Given the description of an element on the screen output the (x, y) to click on. 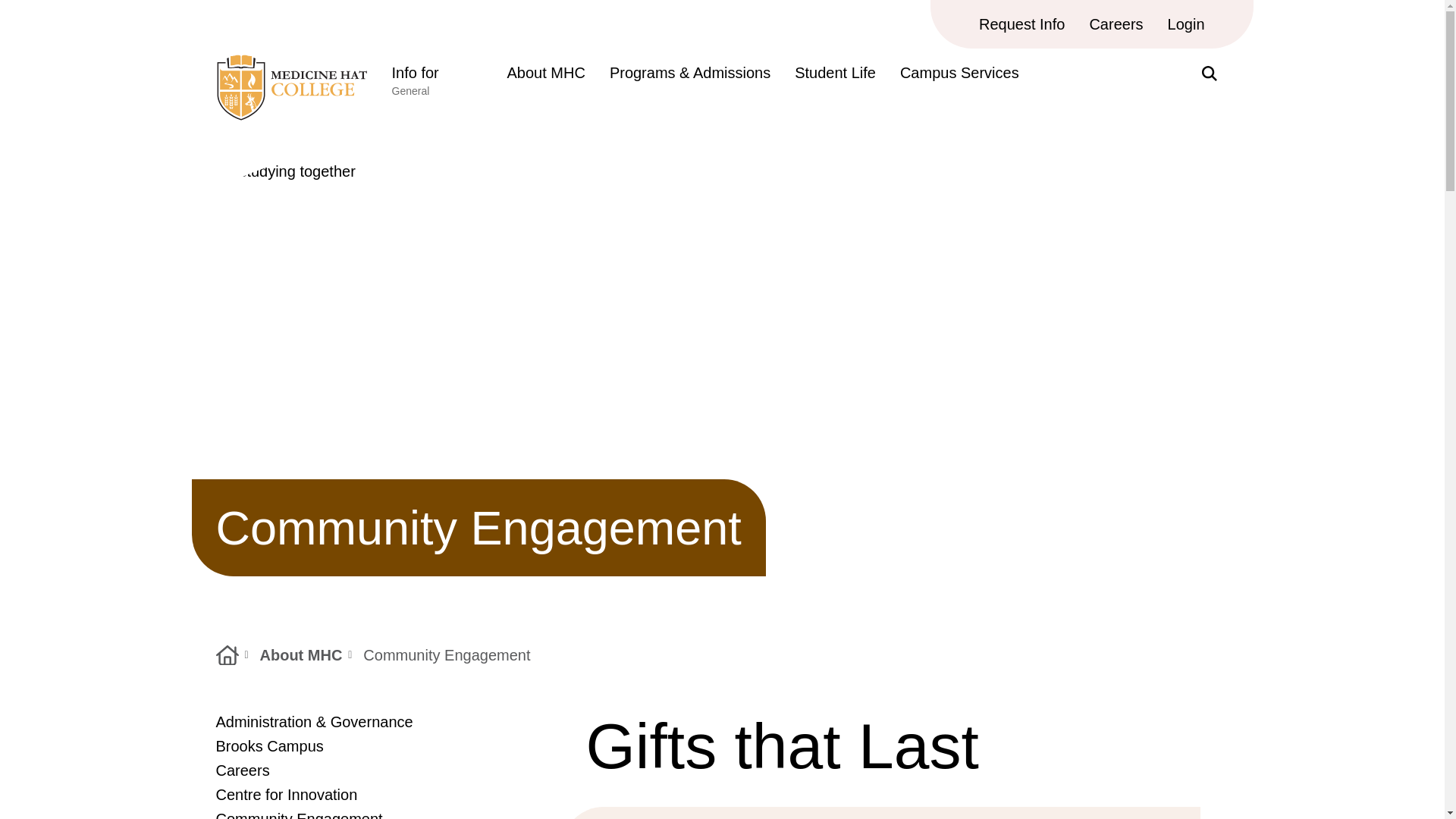
MHC Home (290, 115)
Request Info (1021, 24)
Careers (1115, 24)
Home (226, 655)
Login (436, 85)
Search (1186, 24)
